Given the description of an element on the screen output the (x, y) to click on. 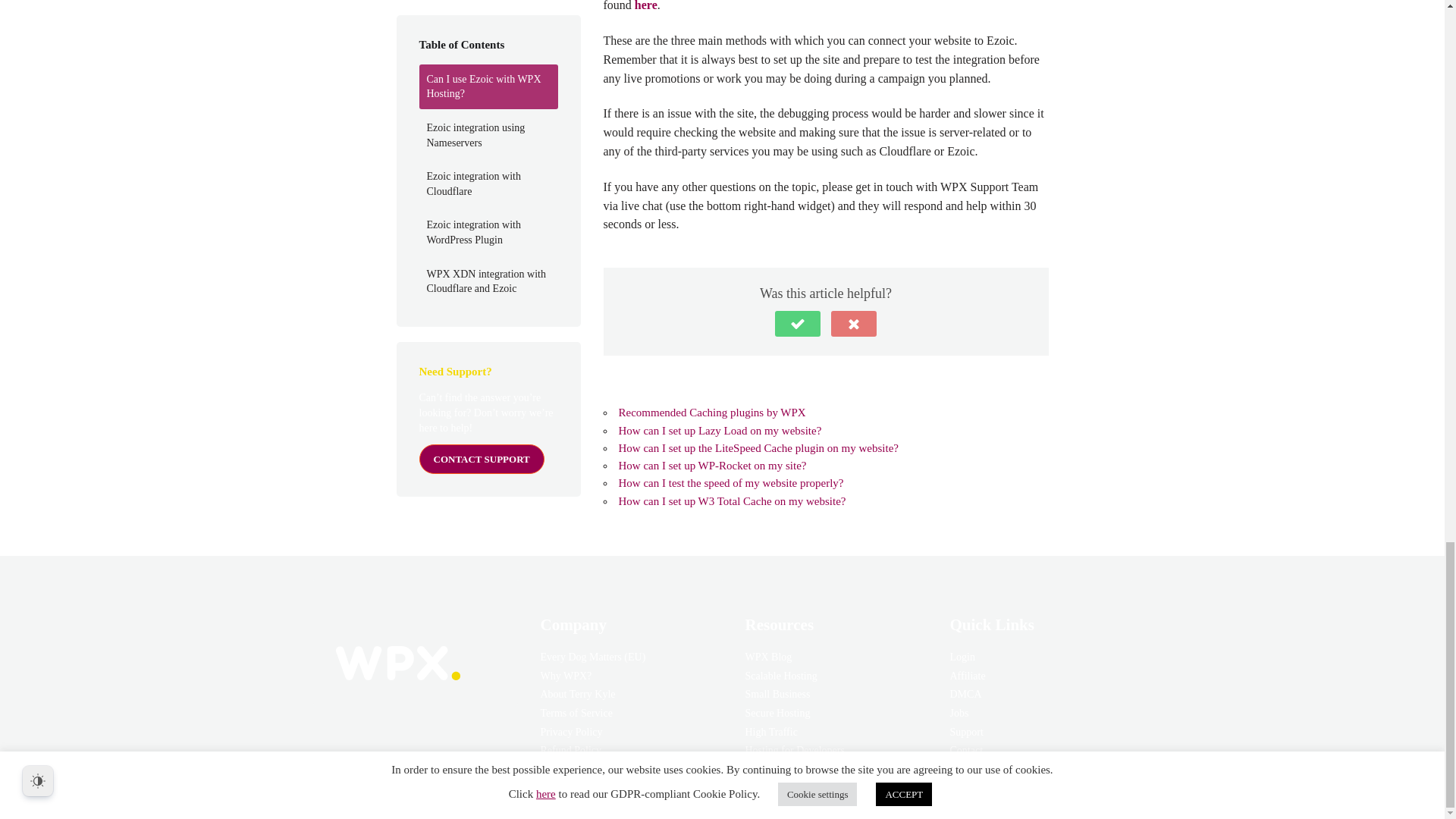
Recommended Caching plugins by WPX (712, 412)
How can I set up the LiteSpeed Cache plugin on my website? (758, 448)
How can I set up Lazy Load on my website? (720, 430)
here (646, 5)
How can I set up WP-Rocket on my site? (712, 465)
